Given the description of an element on the screen output the (x, y) to click on. 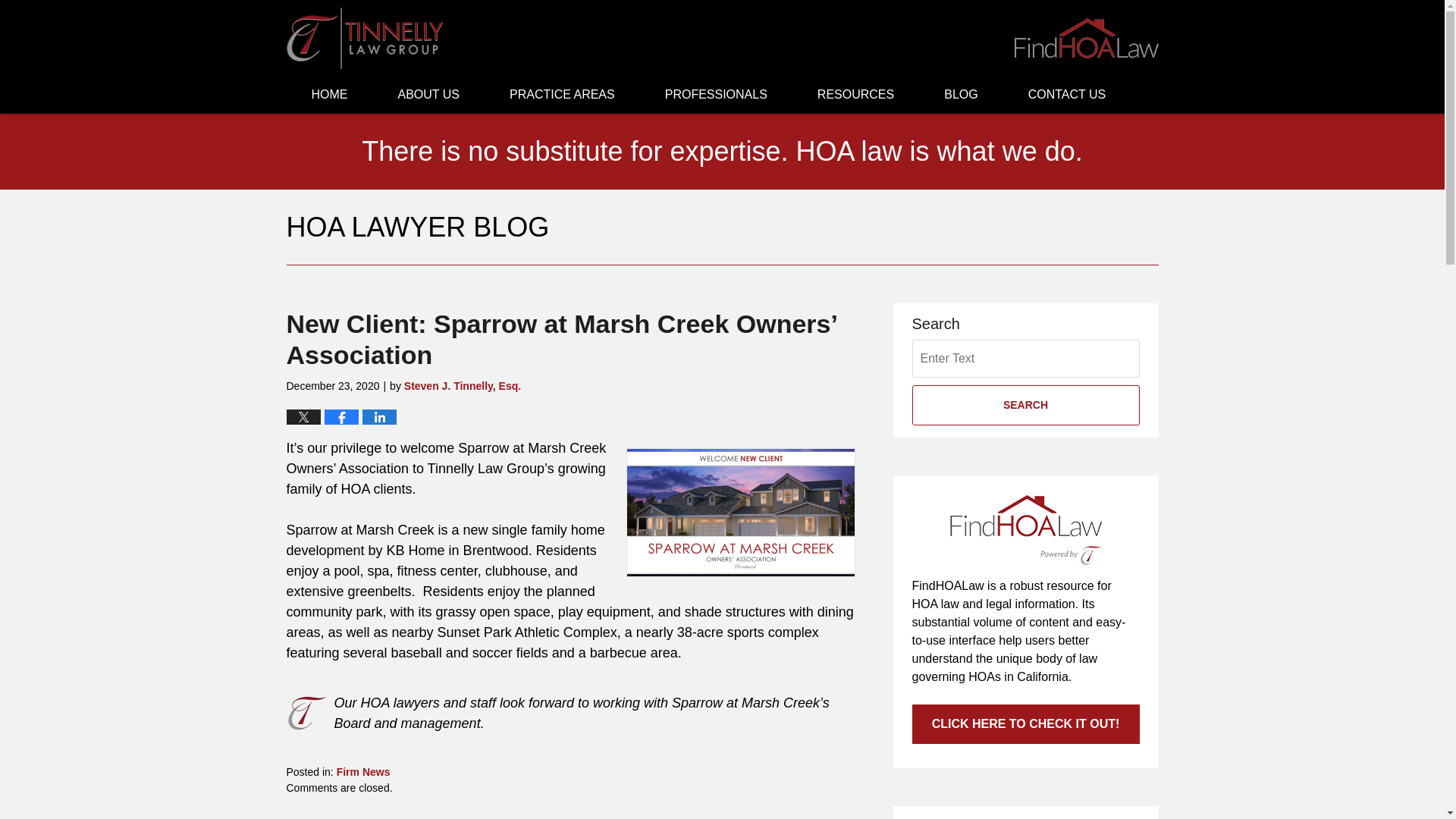
HOME (329, 94)
FindHOALaw (1086, 38)
CONTACT US (1067, 94)
View all posts in Firm News (363, 771)
PROFESSIONALS (716, 94)
PRACTICE AREAS (562, 94)
CLICK HERE TO CHECK IT OUT! (1024, 723)
BLOG (960, 94)
Steven J. Tinnelly, Esq. (462, 386)
SEARCH (1024, 404)
